Given the description of an element on the screen output the (x, y) to click on. 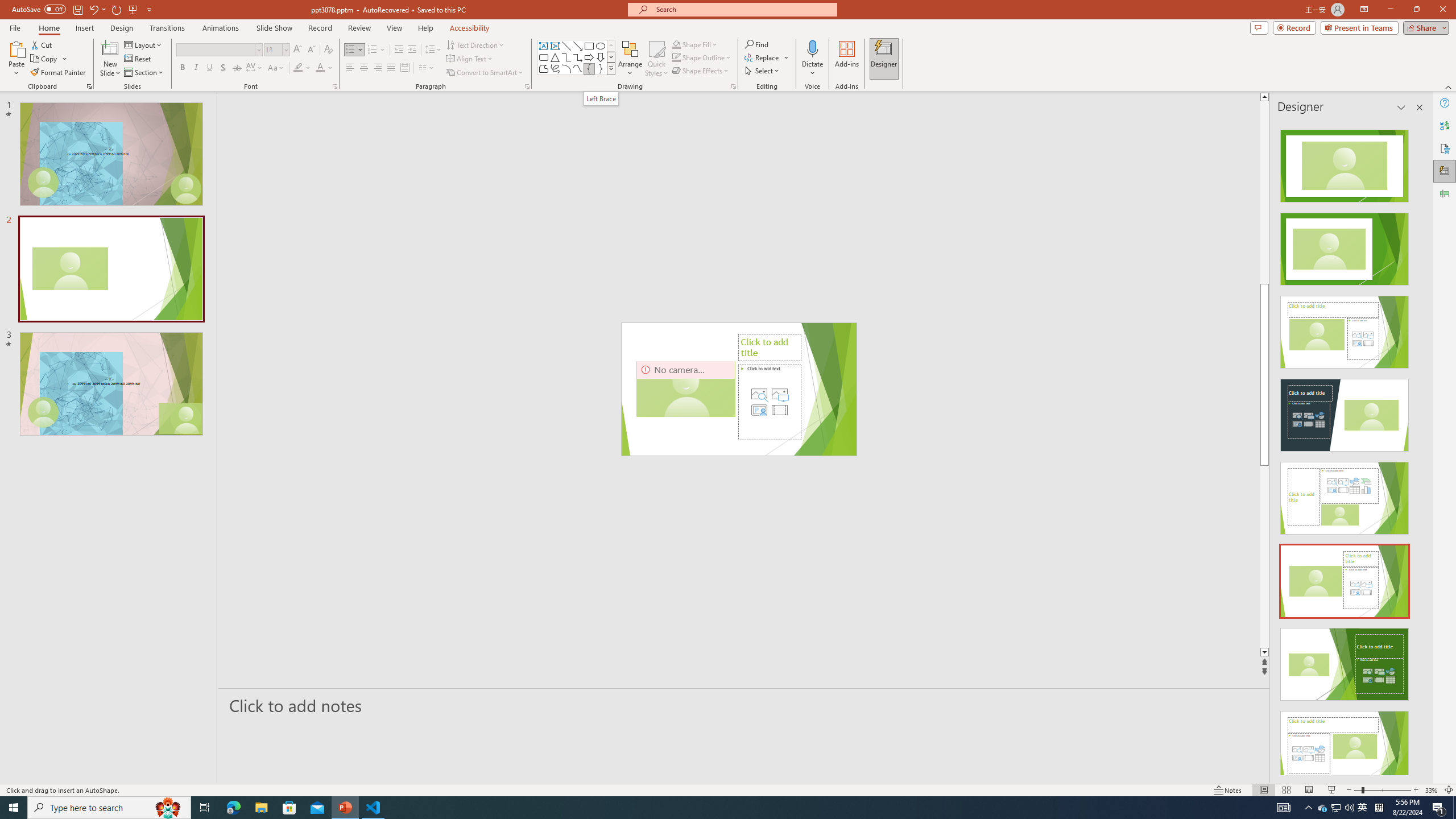
Cut (42, 44)
Animation Pane (1444, 193)
Connector: Elbow Arrow (577, 57)
Dictate (812, 48)
Arrow: Down (600, 57)
Font... (334, 85)
Bullets (354, 49)
Recommended Design: Design Idea (1344, 162)
Left Brace (589, 68)
Shapes (611, 68)
